Given the description of an element on the screen output the (x, y) to click on. 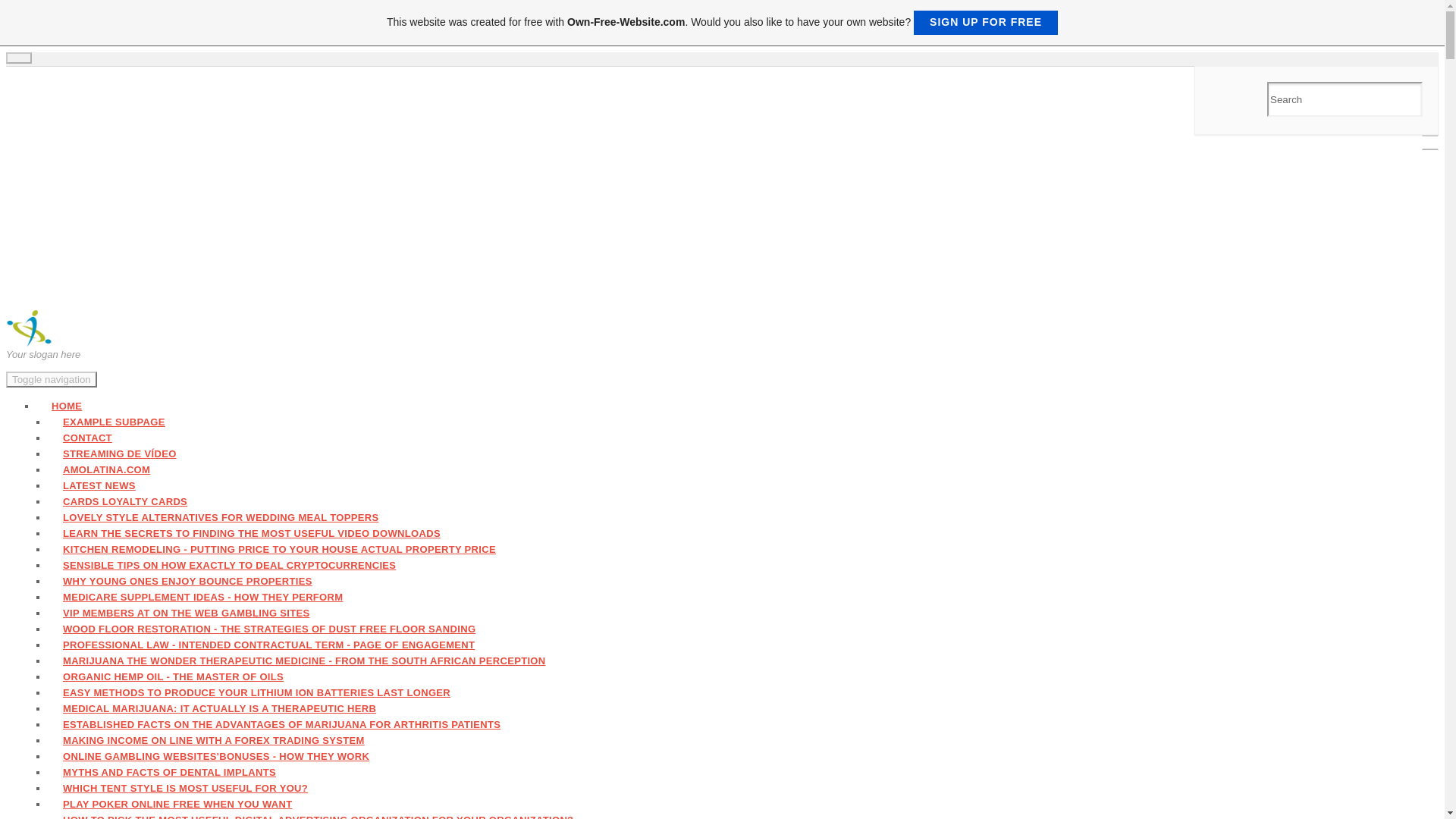
ORGANIC HEMP OIL - THE MASTER OF OILS (173, 676)
EXAMPLE SUBPAGE (114, 421)
MYTHS AND FACTS OF DENTAL IMPLANTS (170, 771)
ONLINE GAMBLING WEBSITES'BONUSES - HOW THEY WORK (216, 755)
LATEST NEWS (99, 485)
LOVELY STYLE ALTERNATIVES FOR WEDDING MEAL TOPPERS (221, 517)
AMOLATINA.COM (106, 468)
MEDICARE SUPPLEMENT IDEAS - HOW THEY PERFORM (203, 595)
PLAY POKER ONLINE FREE WHEN YOU WANT (178, 803)
